Given the description of an element on the screen output the (x, y) to click on. 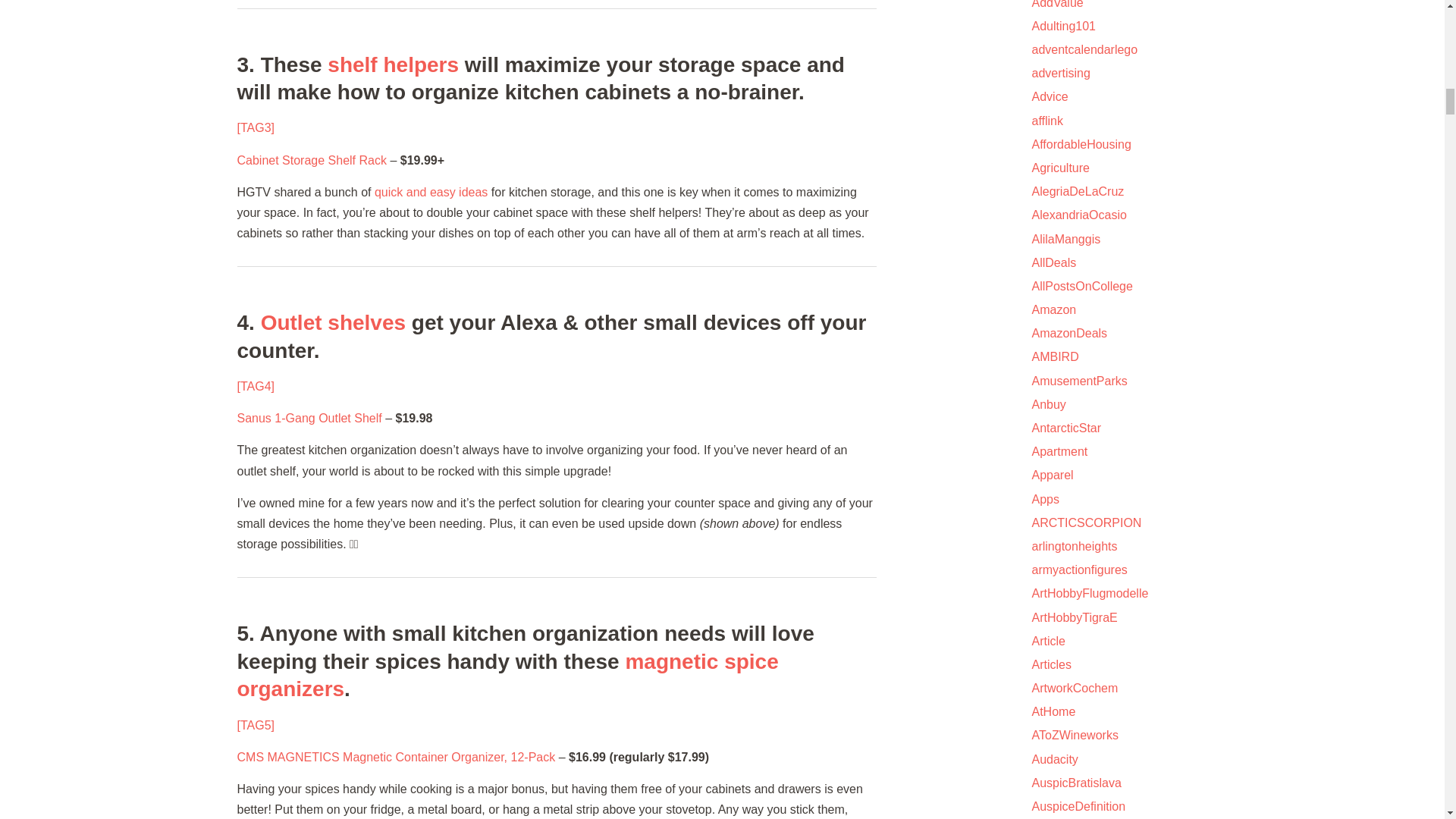
Cabinet Storage Shelf Rack (310, 160)
quick and easy ideas (430, 192)
shelf helpers (392, 64)
Outlet shelves (333, 322)
magnetic spice organizers (506, 675)
CMS MAGNETICS Magnetic Container Organizer, 12-Pack (394, 757)
Sanus 1-Gang Outlet Shelf (308, 418)
